Given the description of an element on the screen output the (x, y) to click on. 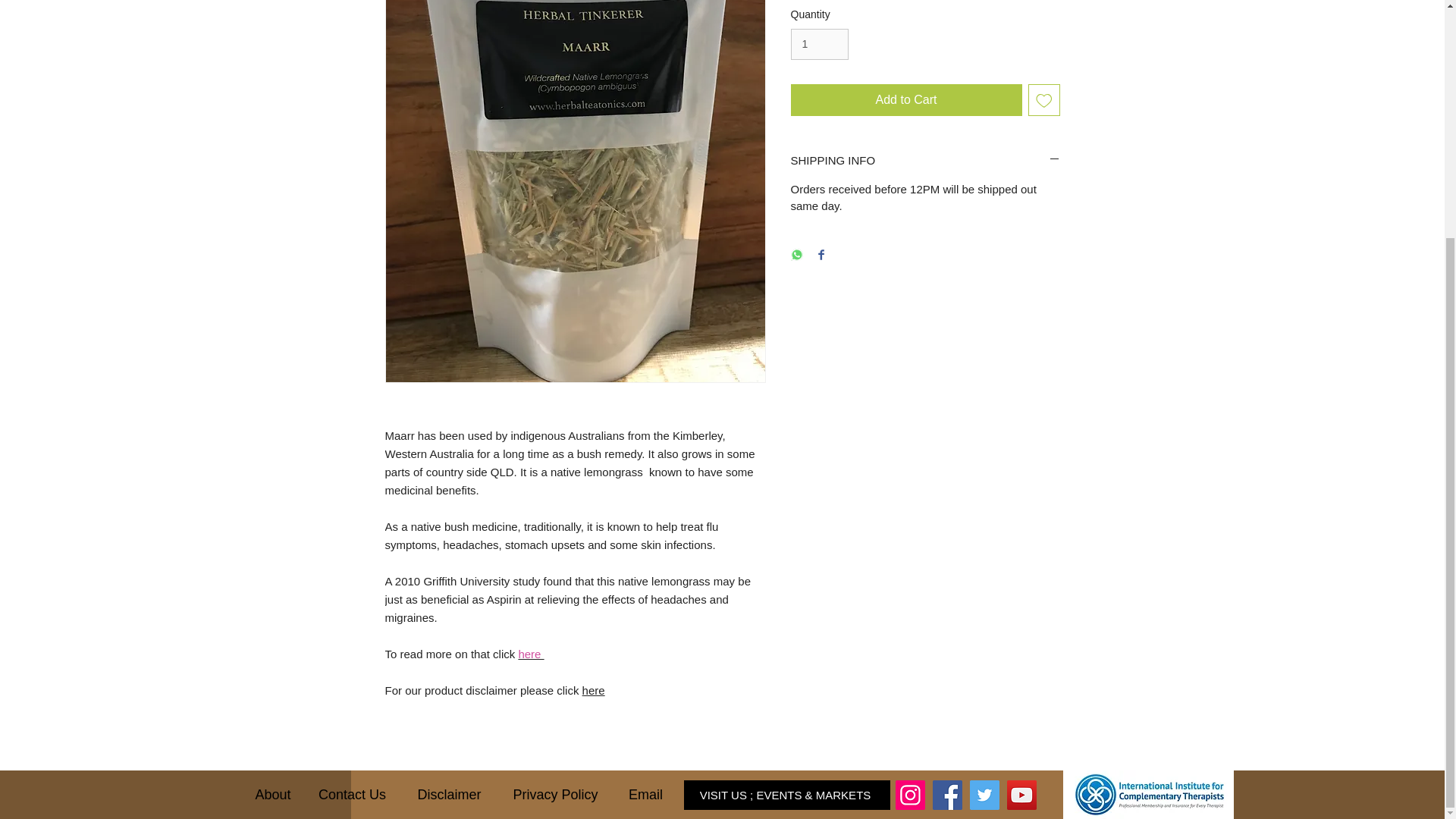
Email (645, 794)
1 (818, 43)
here  (530, 653)
Contact Us (351, 794)
About (273, 795)
Disclaimer (449, 794)
here (593, 689)
Privacy Policy (555, 794)
SHIPPING INFO (924, 160)
Add to Cart (906, 100)
